Given the description of an element on the screen output the (x, y) to click on. 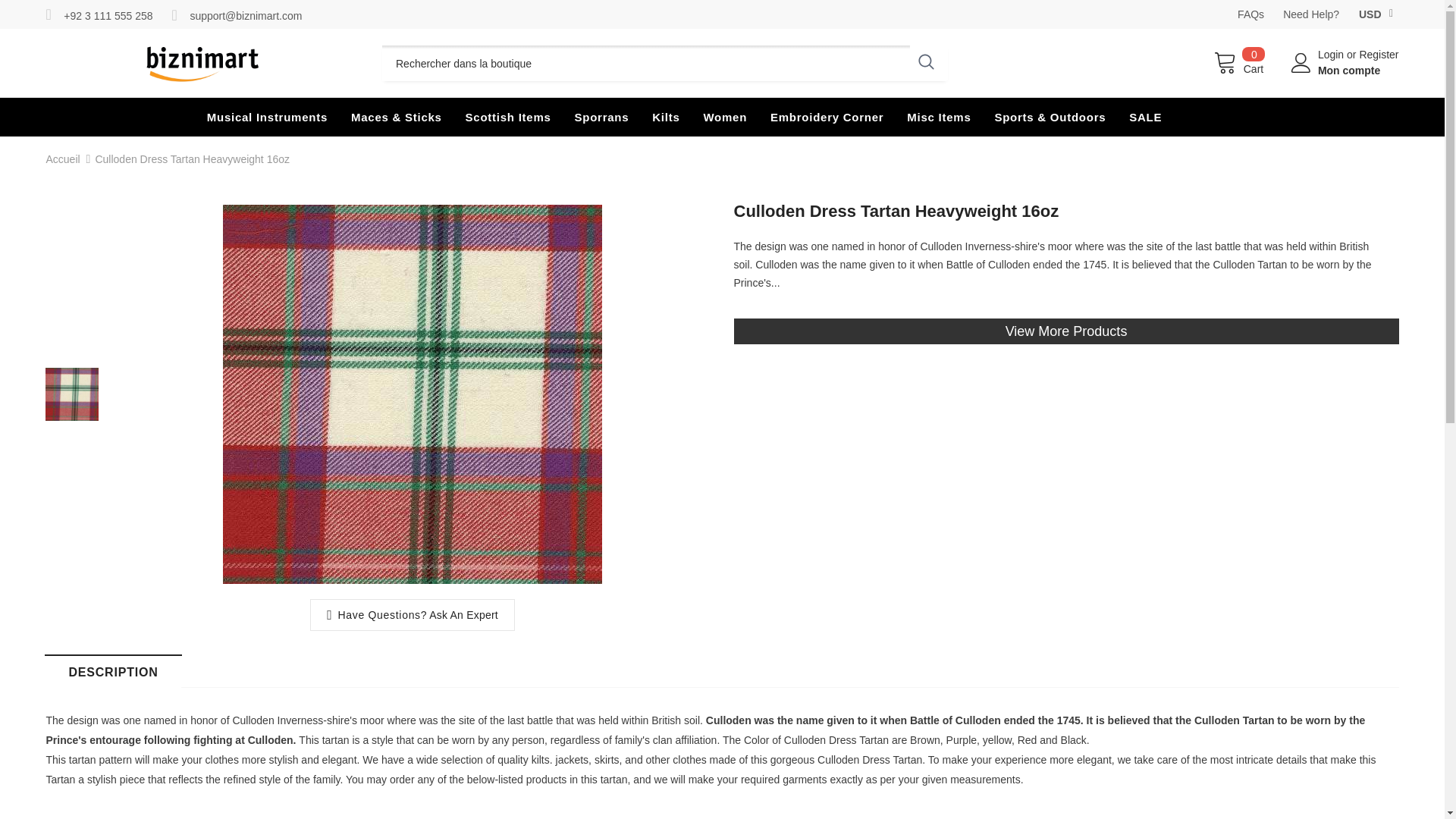
Need Help? (1310, 14)
Logo (202, 62)
FAQs (1250, 14)
